Given the description of an element on the screen output the (x, y) to click on. 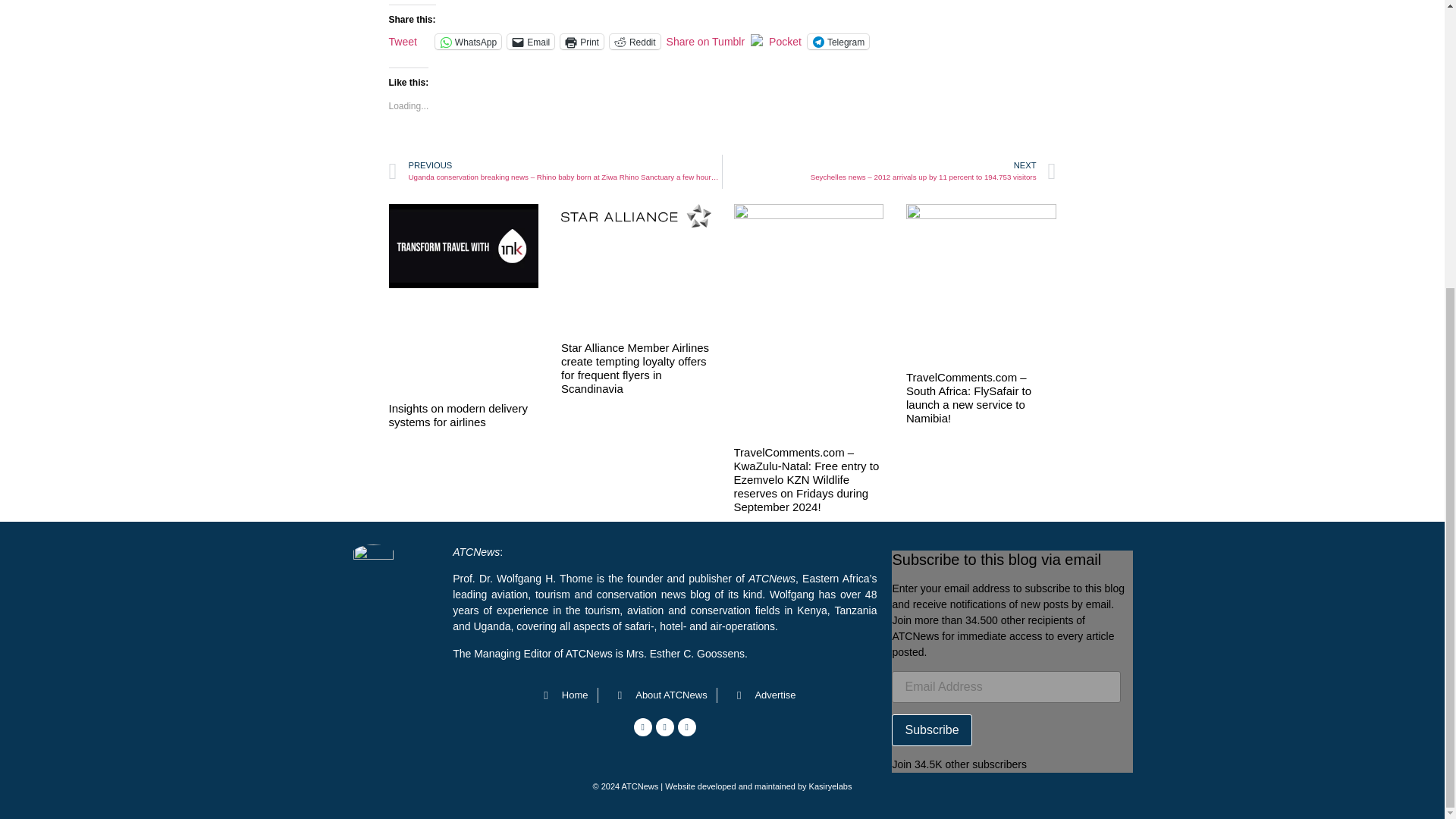
WhatsApp (467, 41)
Share on Tumblr (705, 40)
Email (530, 41)
Click to email a link to a friend (530, 41)
Click to share on WhatsApp (467, 41)
asiryelabs (832, 786)
Telegram (838, 41)
Advertise (761, 694)
Subscribe (931, 730)
About ATCNews (656, 694)
